Given the description of an element on the screen output the (x, y) to click on. 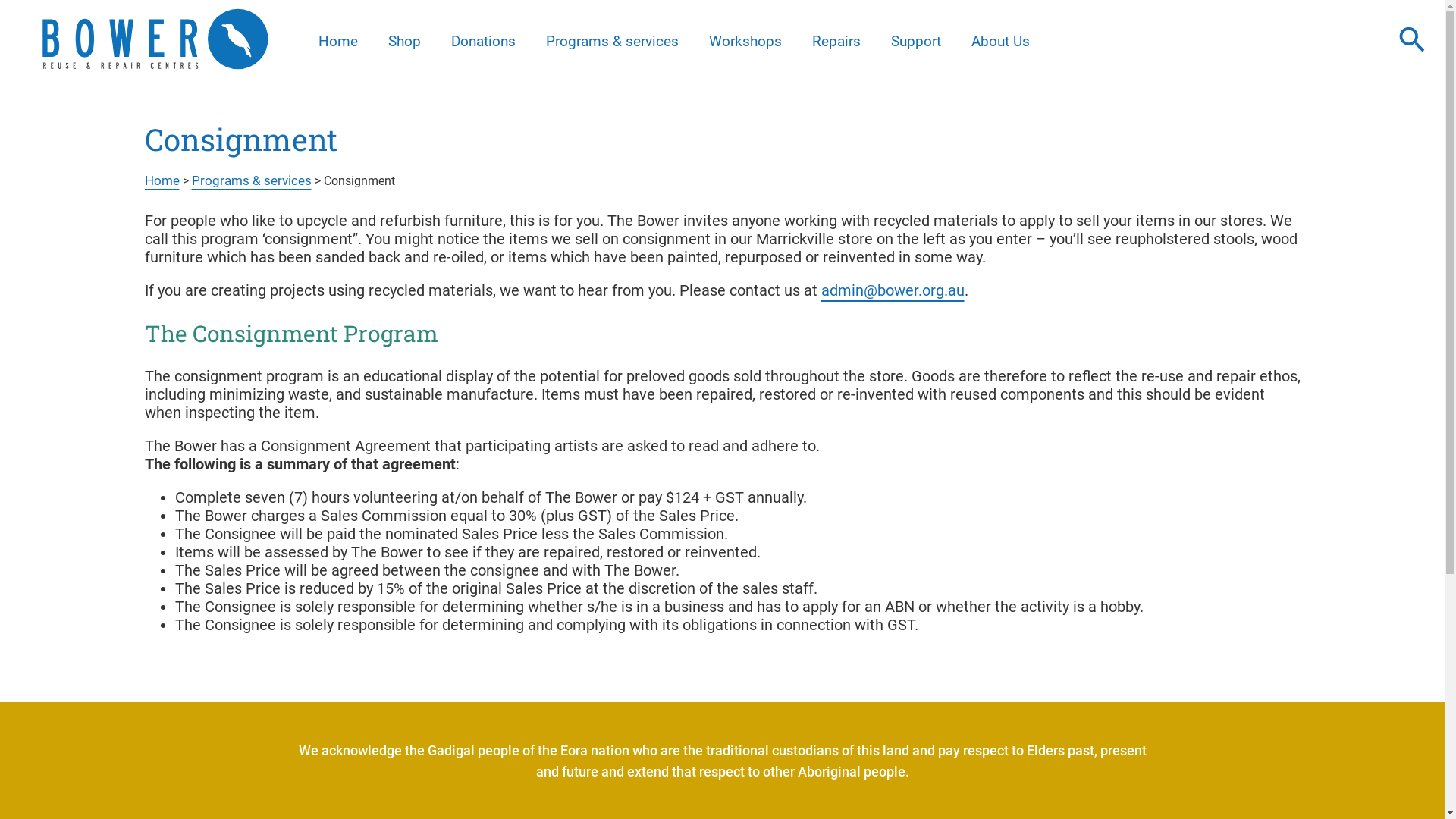
admin@bower.org.au Element type: text (891, 290)
Workshops Element type: text (745, 41)
About Us Element type: text (1000, 41)
Home Element type: text (338, 41)
Shop Element type: text (404, 41)
Home Element type: text (161, 180)
Donations Element type: text (483, 41)
Support Element type: text (915, 41)
Programs & services Element type: text (250, 180)
Repairs Element type: text (836, 41)
Programs & services Element type: text (611, 41)
